Given the description of an element on the screen output the (x, y) to click on. 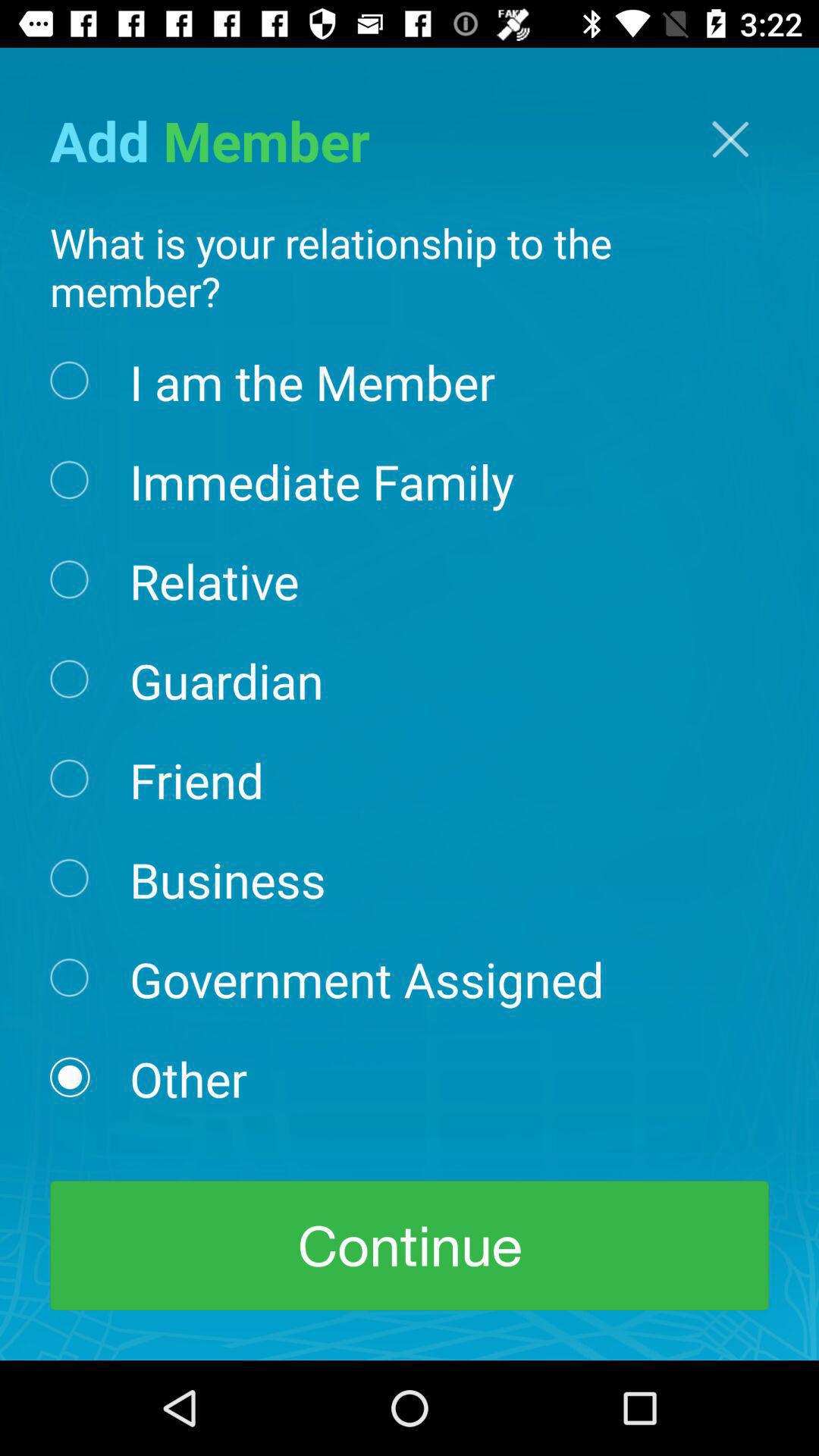
press icon above immediate family icon (312, 380)
